Given the description of an element on the screen output the (x, y) to click on. 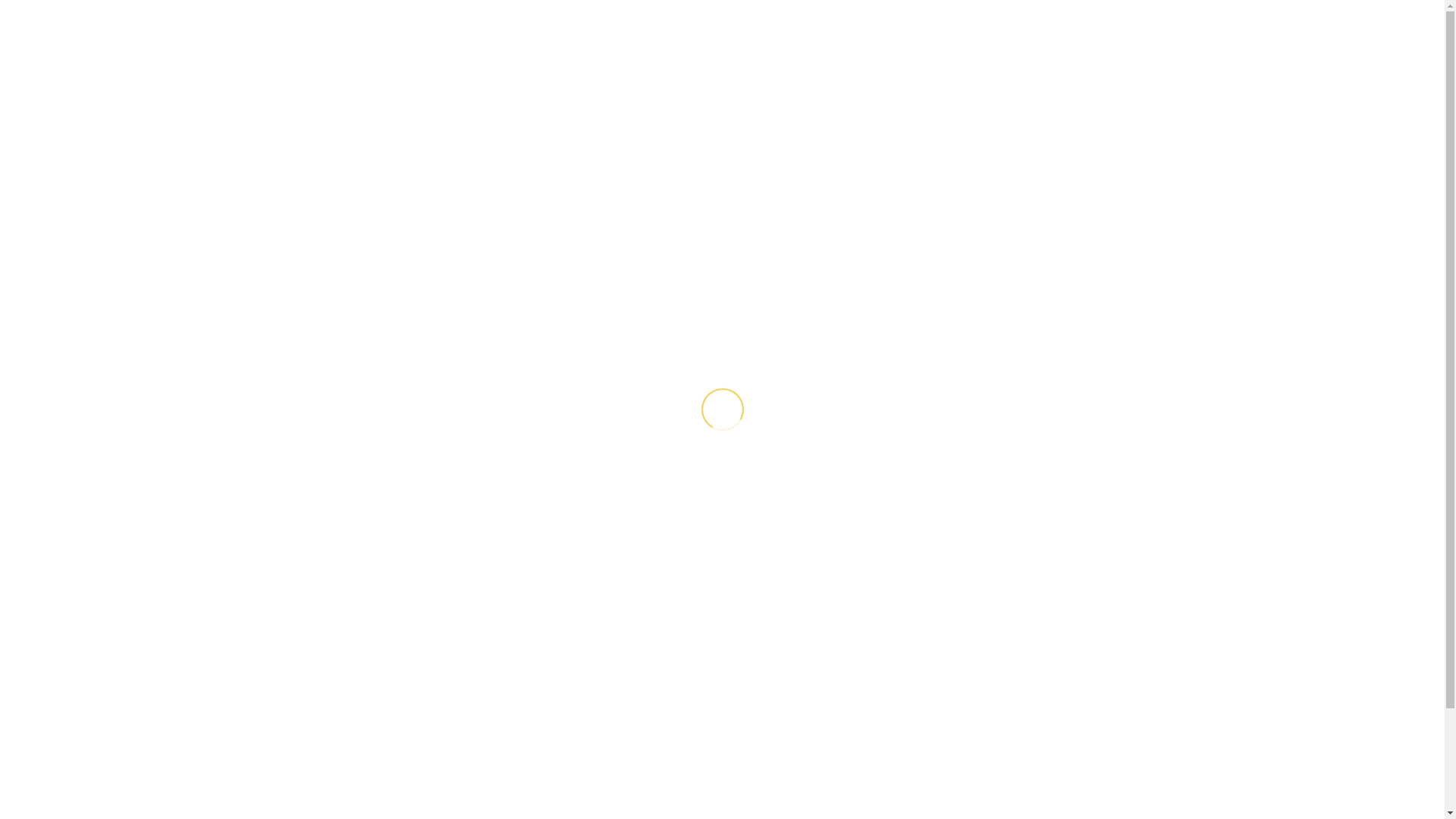
EXPO Element type: text (883, 131)
LE MAGASIN EN LIGNE Element type: text (774, 131)
MAISON DE VENTES Element type: text (495, 131)
MON CATALOGUE Element type: text (631, 131)
CONTACT Element type: text (1056, 131)
ACCUEIL Element type: text (384, 131)
